Given the description of an element on the screen output the (x, y) to click on. 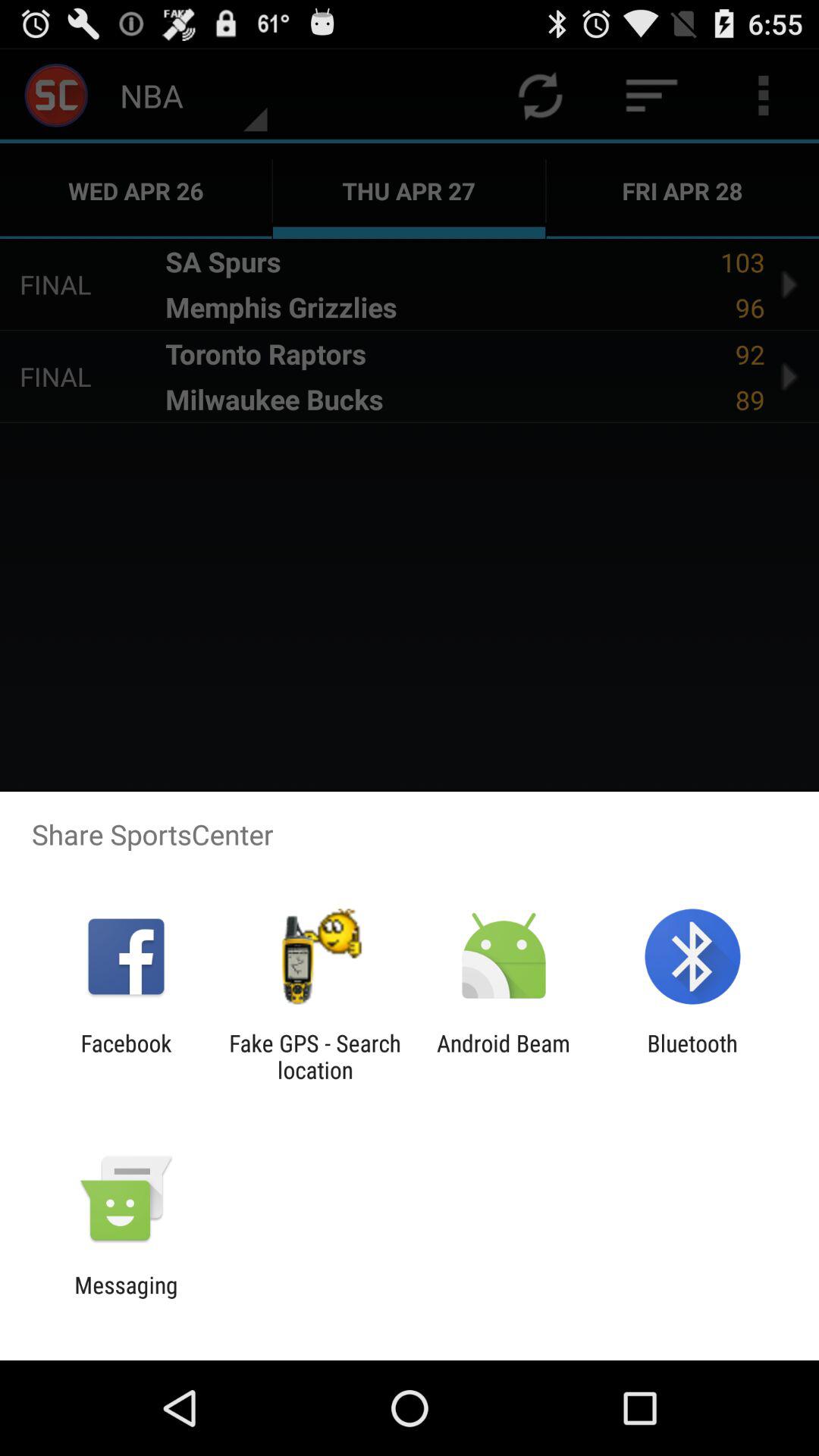
turn on the icon next to the android beam icon (692, 1056)
